Given the description of an element on the screen output the (x, y) to click on. 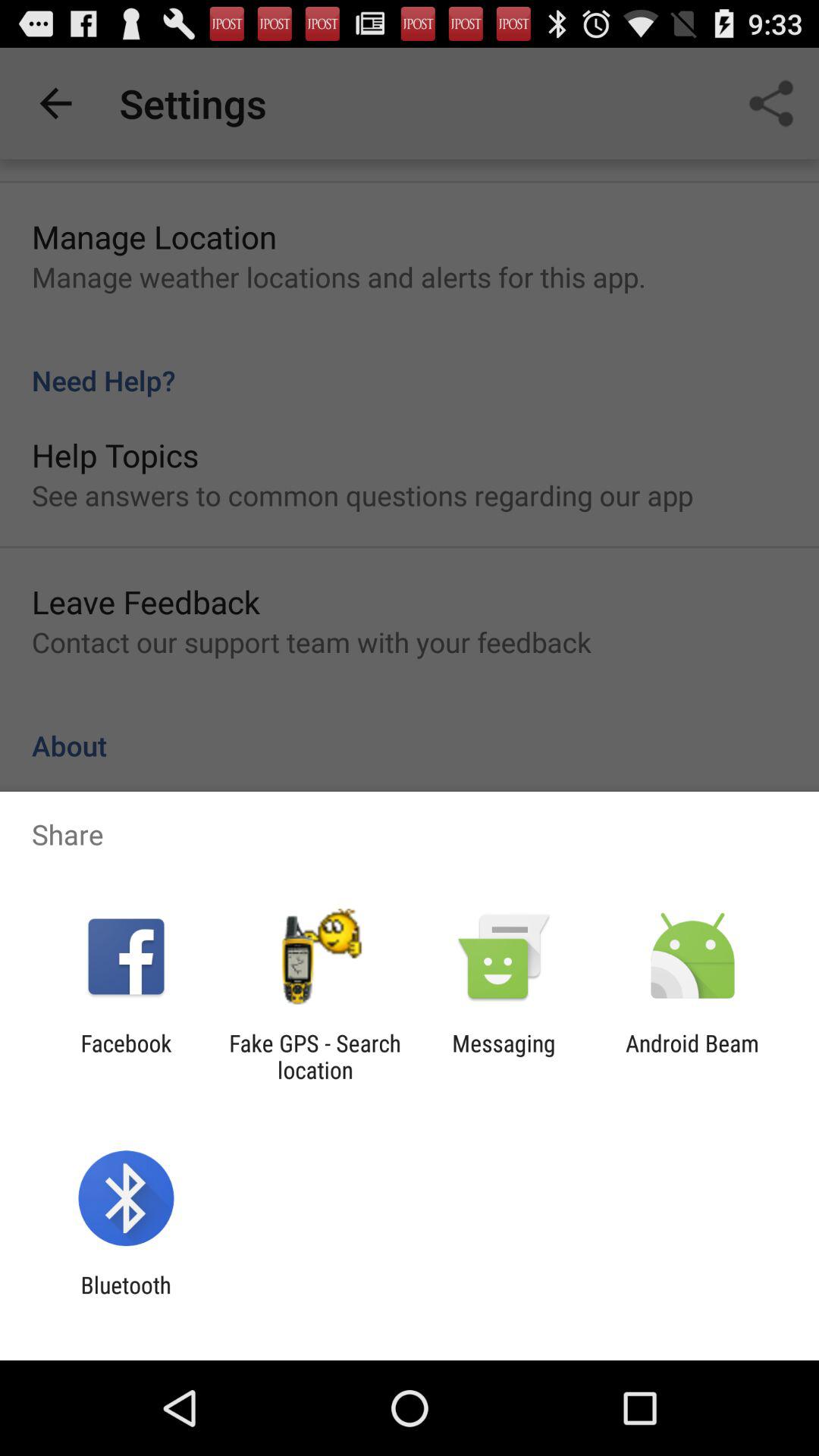
tap item to the right of facebook item (314, 1056)
